Given the description of an element on the screen output the (x, y) to click on. 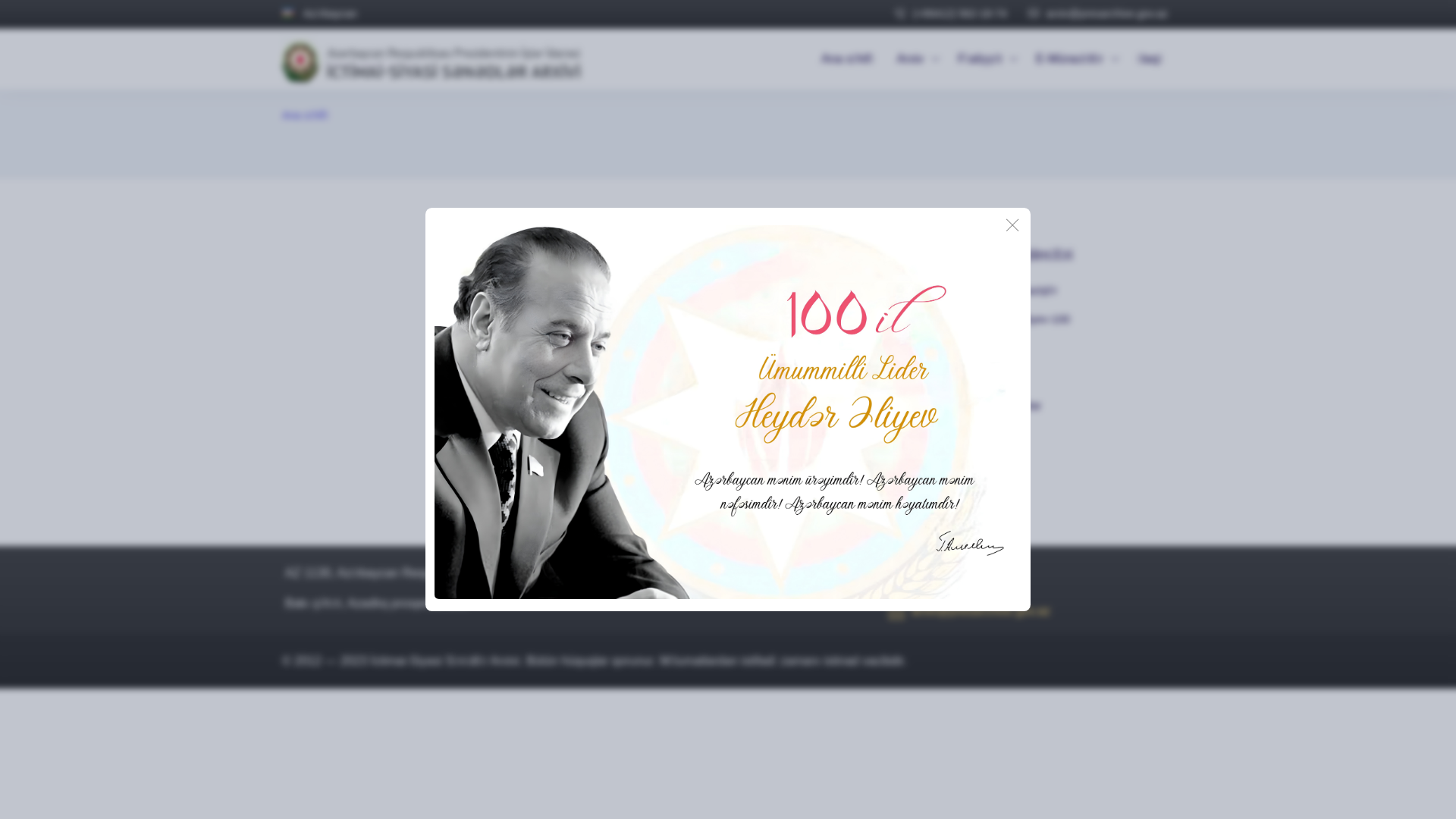
(+99412) 562-18-74 Element type: text (950, 14)
Konfranslar Element type: text (1075, 405)
(+99412) 562-18-74 Element type: text (953, 581)
Arxiv Element type: text (915, 58)
arxiv@presarchive.gov.az Element type: text (1097, 14)
arxiv@presarchive.gov.az Element type: text (969, 616)
